Given the description of an element on the screen output the (x, y) to click on. 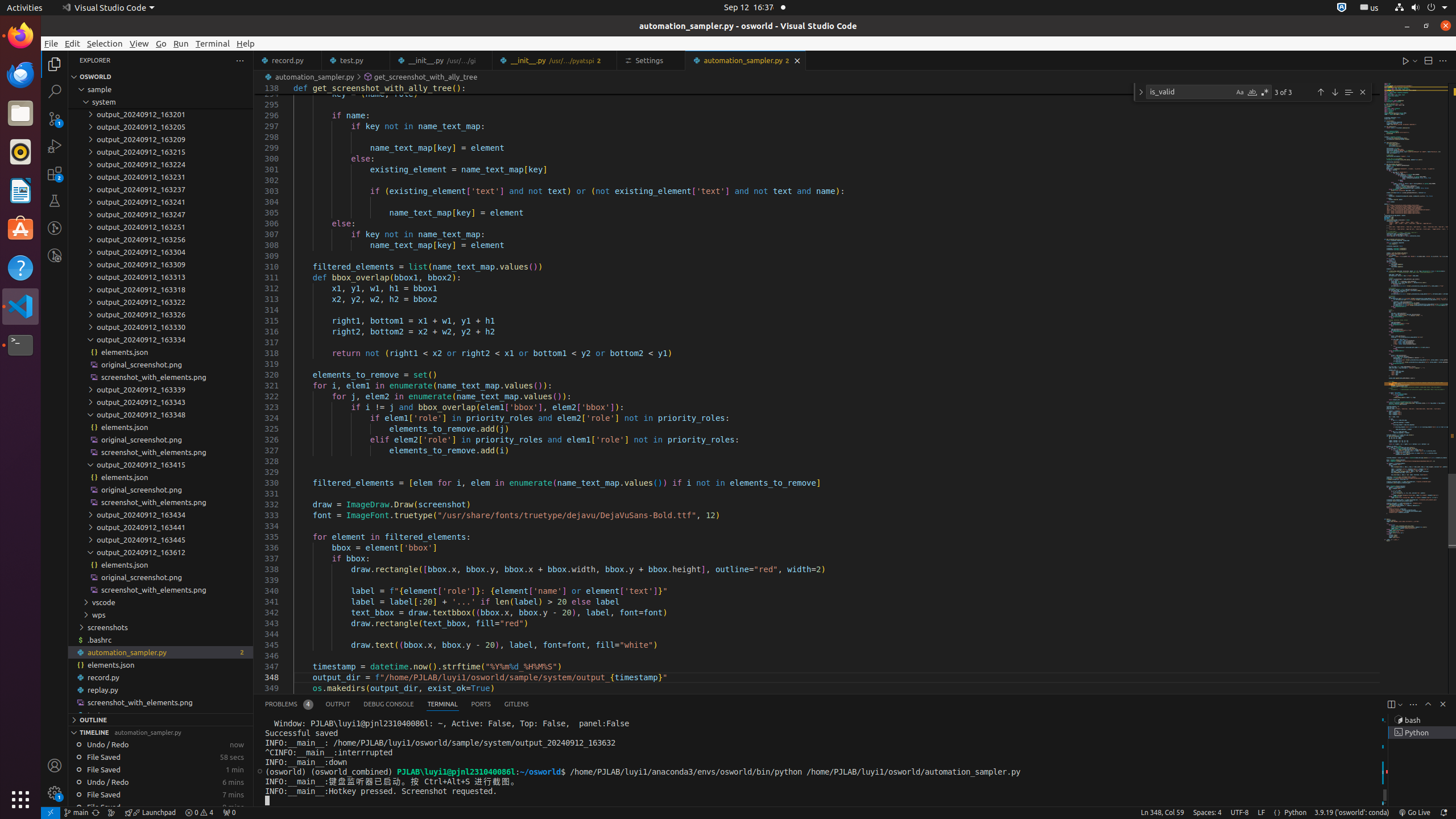
Explorer Section: osworld Element type: push-button (160, 76)
output_20240912_163445 Element type: tree-item (160, 539)
